Given the description of an element on the screen output the (x, y) to click on. 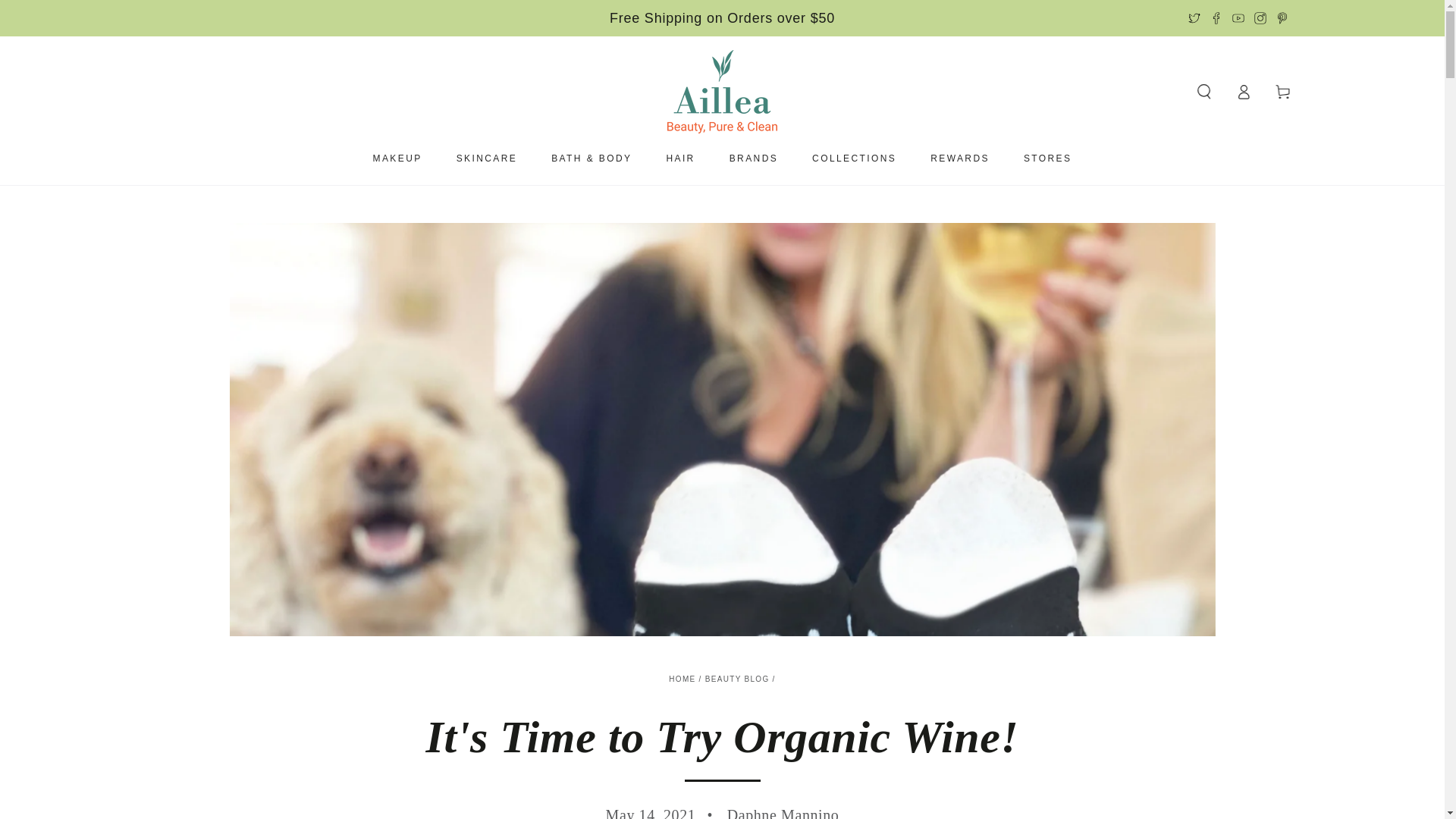
Back to the frontpage (681, 678)
SKIP TO CONTENT (67, 14)
